Given the description of an element on the screen output the (x, y) to click on. 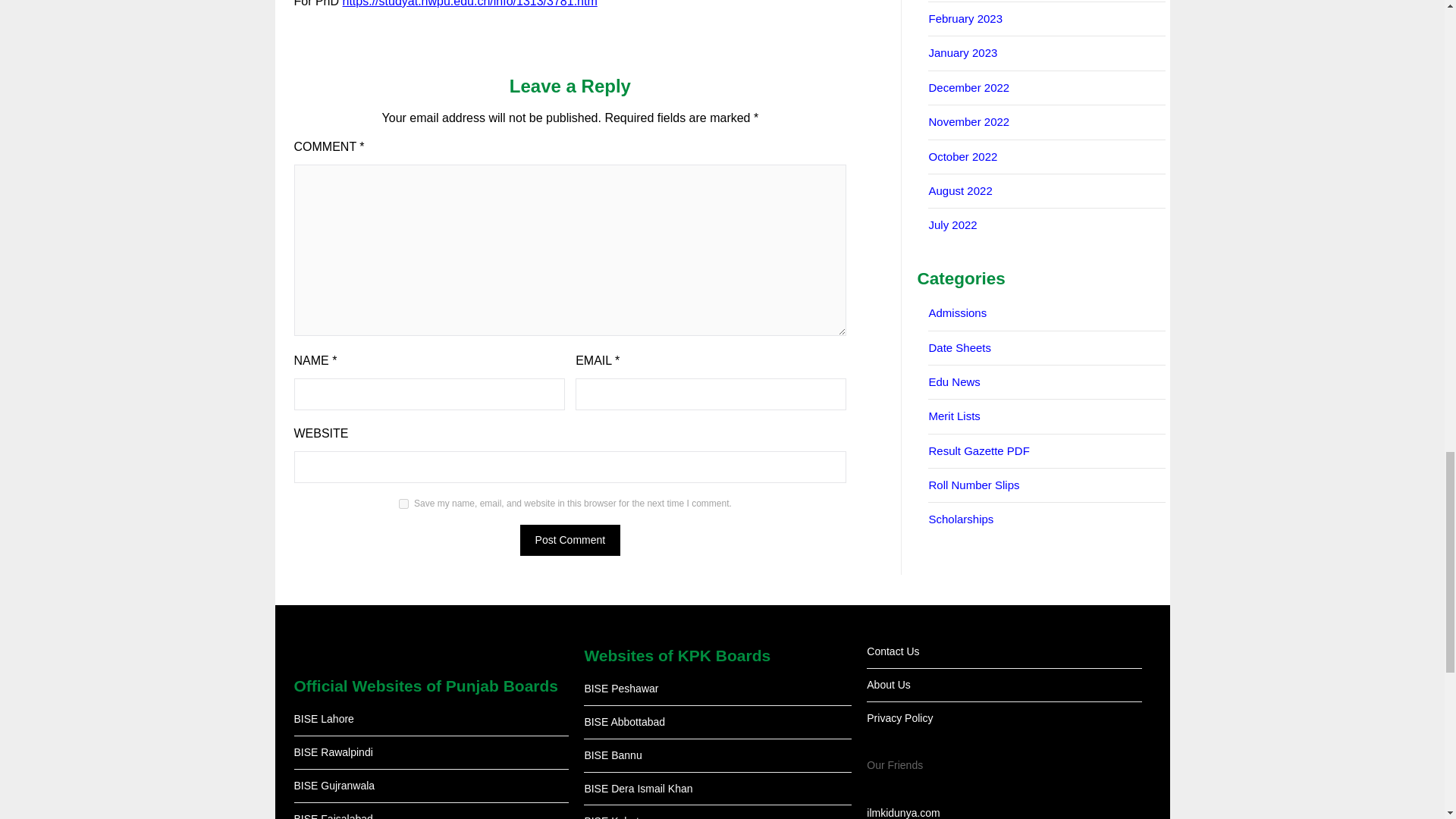
yes (403, 503)
Post Comment (570, 540)
Post Comment (570, 540)
